Given the description of an element on the screen output the (x, y) to click on. 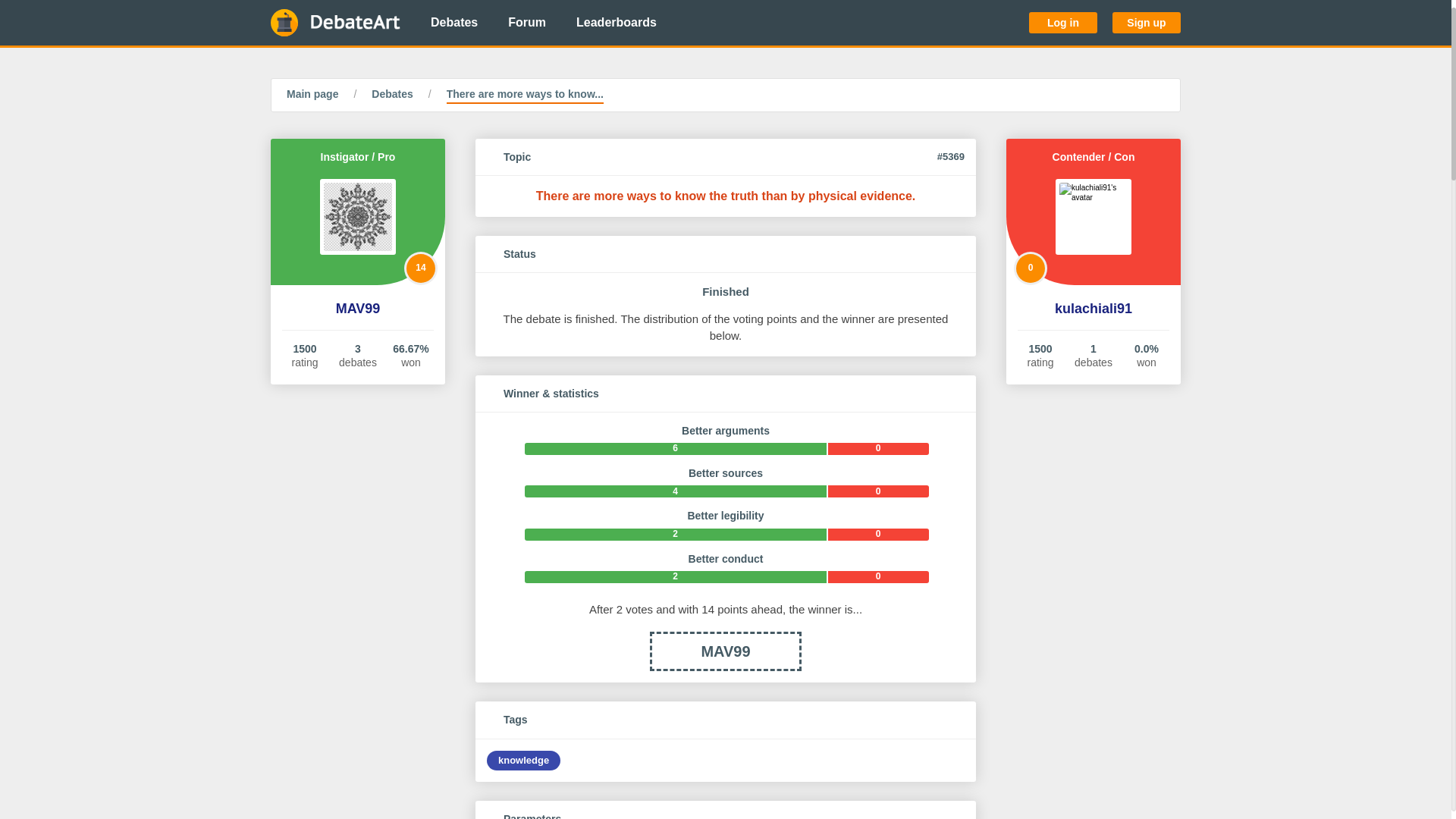
Debates (391, 95)
Sign up (1146, 22)
kulachiali91 (1093, 308)
Debate's number (950, 156)
Forum (526, 22)
Log in (1063, 22)
Main page (311, 95)
Debates (453, 22)
Leaderboards (615, 22)
Go to main page (335, 22)
